Given the description of an element on the screen output the (x, y) to click on. 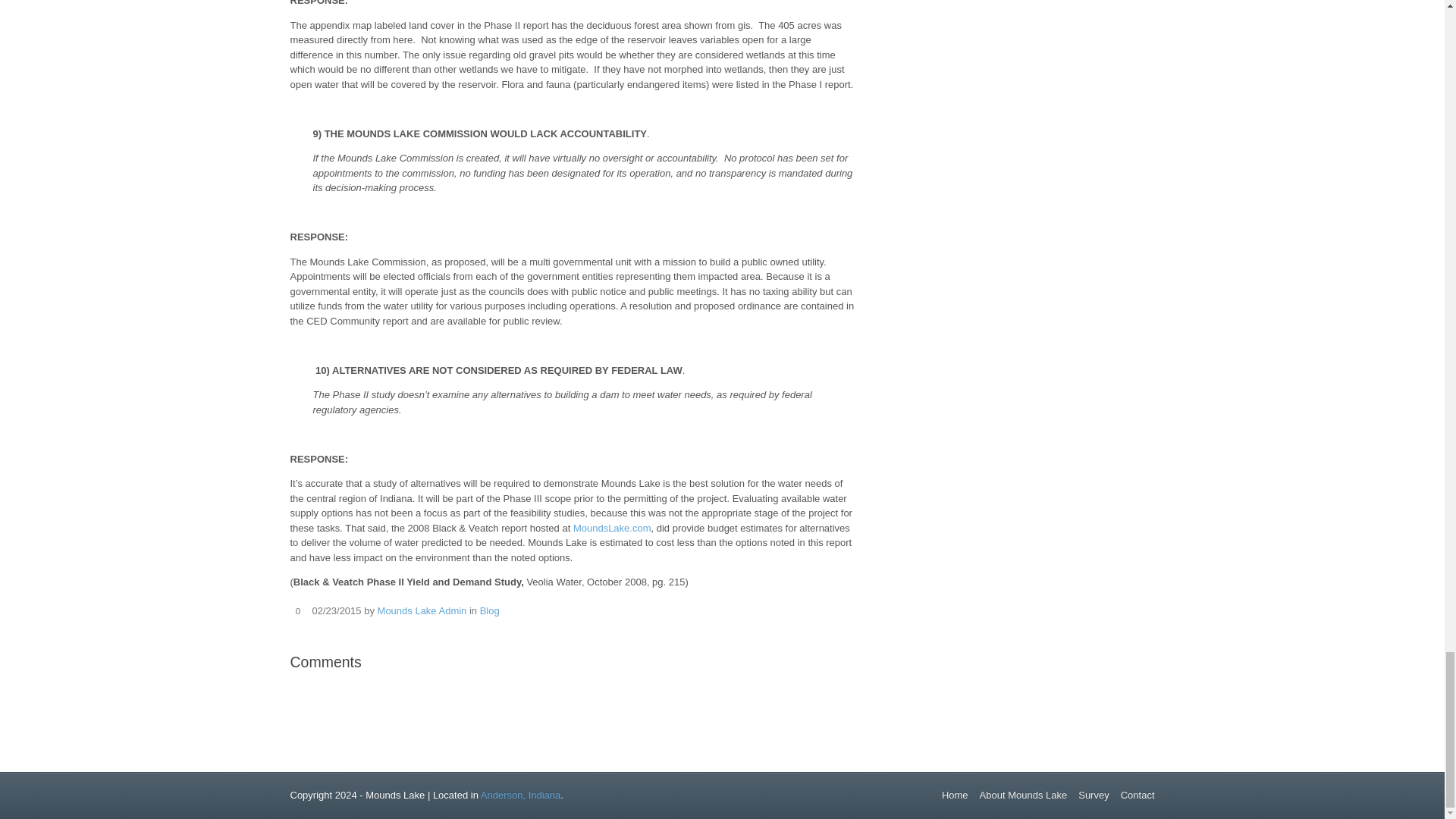
Survey (1093, 794)
Home (955, 794)
Blog (489, 610)
Mounds Lake Admin (422, 610)
Anderson, Indiana (520, 794)
Posts by Mounds Lake Admin (422, 610)
About Mounds Lake (1023, 794)
MoundsLake.com (611, 527)
Contact (1137, 794)
